Given the description of an element on the screen output the (x, y) to click on. 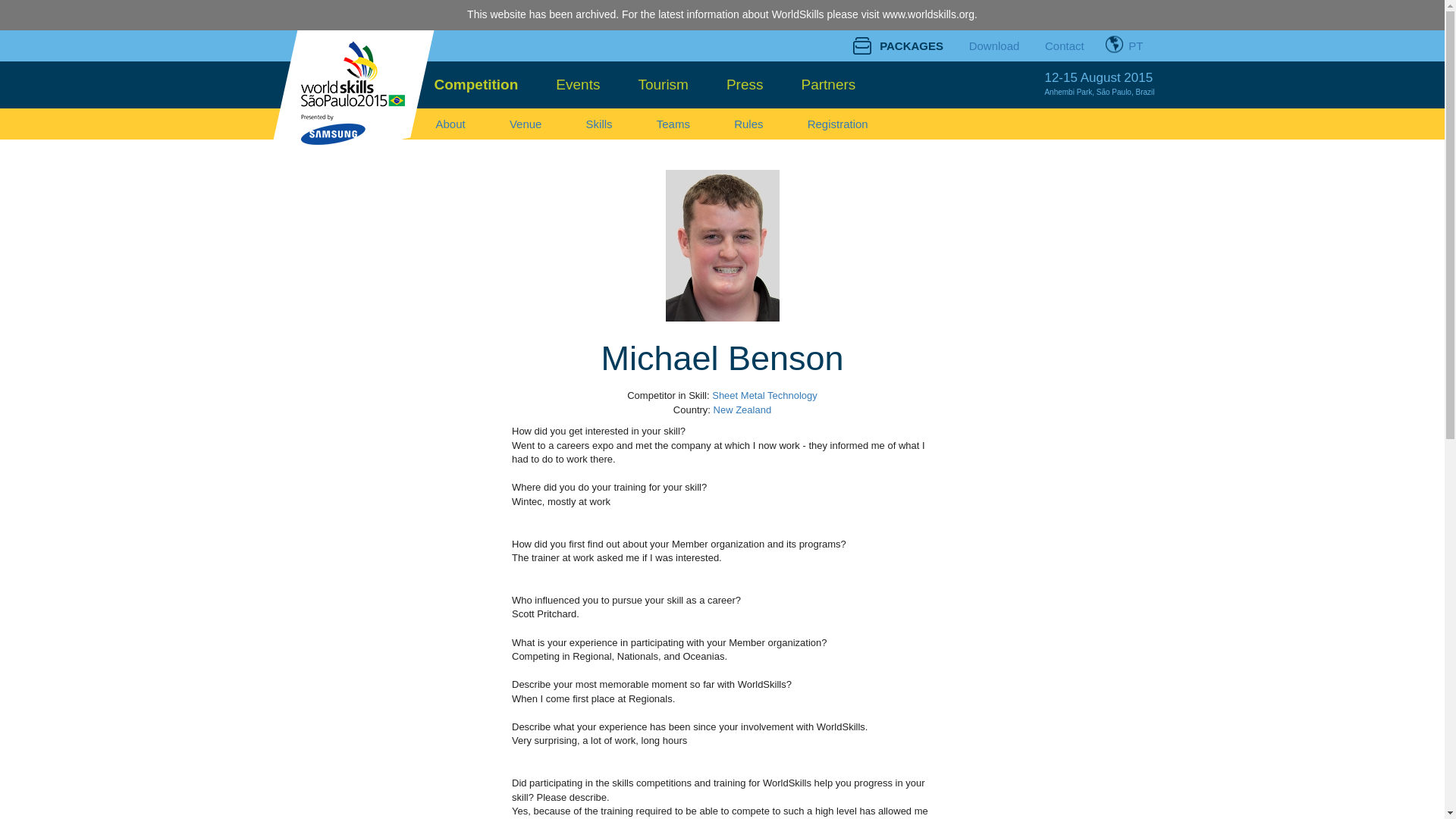
Rules (748, 123)
Competition (475, 84)
PT (1125, 44)
Venue (525, 123)
Teams (673, 123)
Tourism (662, 84)
Press (745, 84)
Skills (599, 123)
Portuguese (1125, 44)
Partners (829, 84)
www.worldskills.org (928, 14)
About (451, 123)
Contact (1064, 45)
PACKAGES (901, 45)
Events (577, 84)
